Given the description of an element on the screen output the (x, y) to click on. 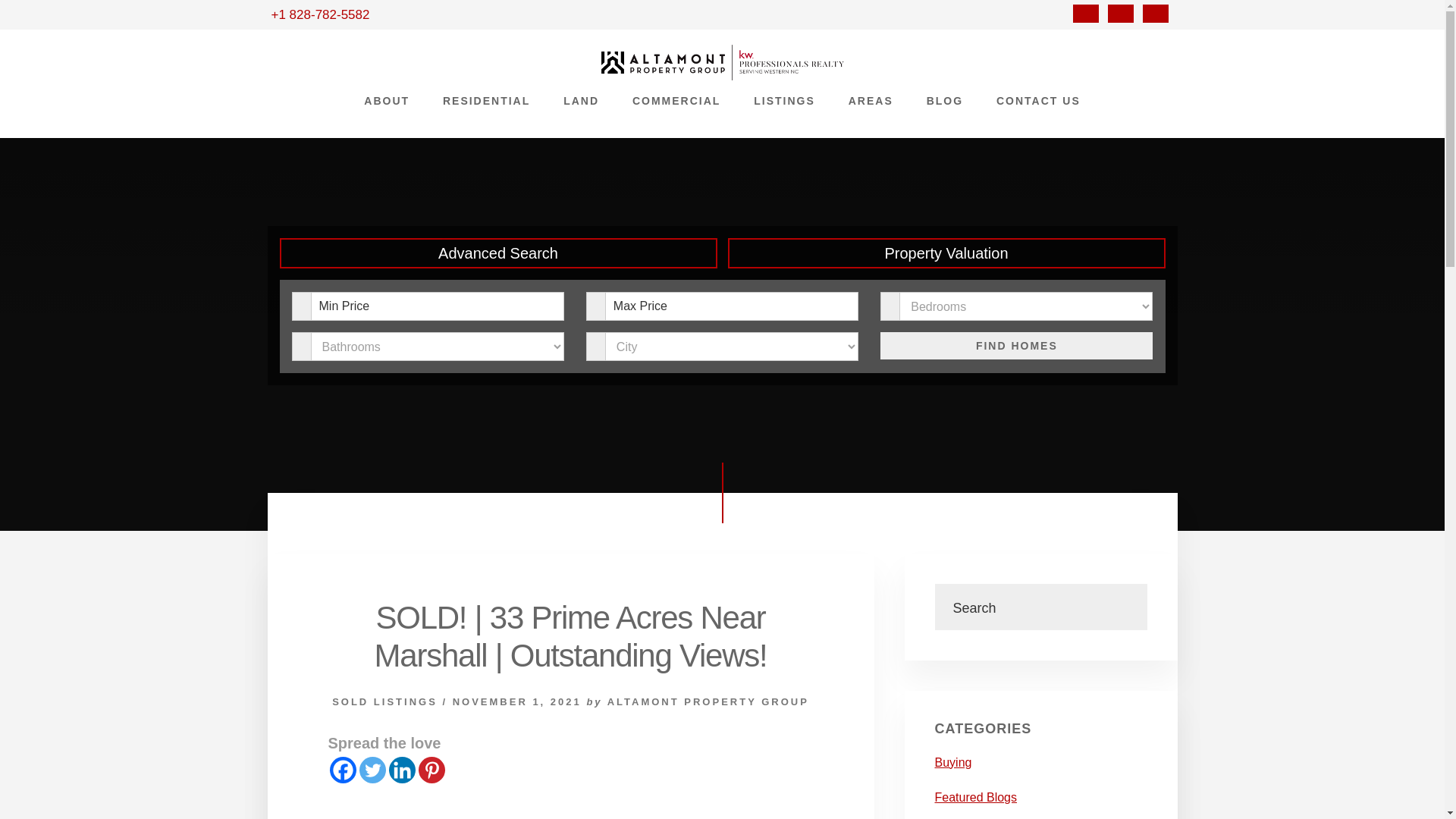
Facebook (342, 769)
Twitter (372, 769)
Linkedin (401, 769)
Zillow (1155, 13)
LAND (581, 101)
Instagram (1121, 13)
Facebook (1086, 13)
Facebook (1086, 13)
